Given the description of an element on the screen output the (x, y) to click on. 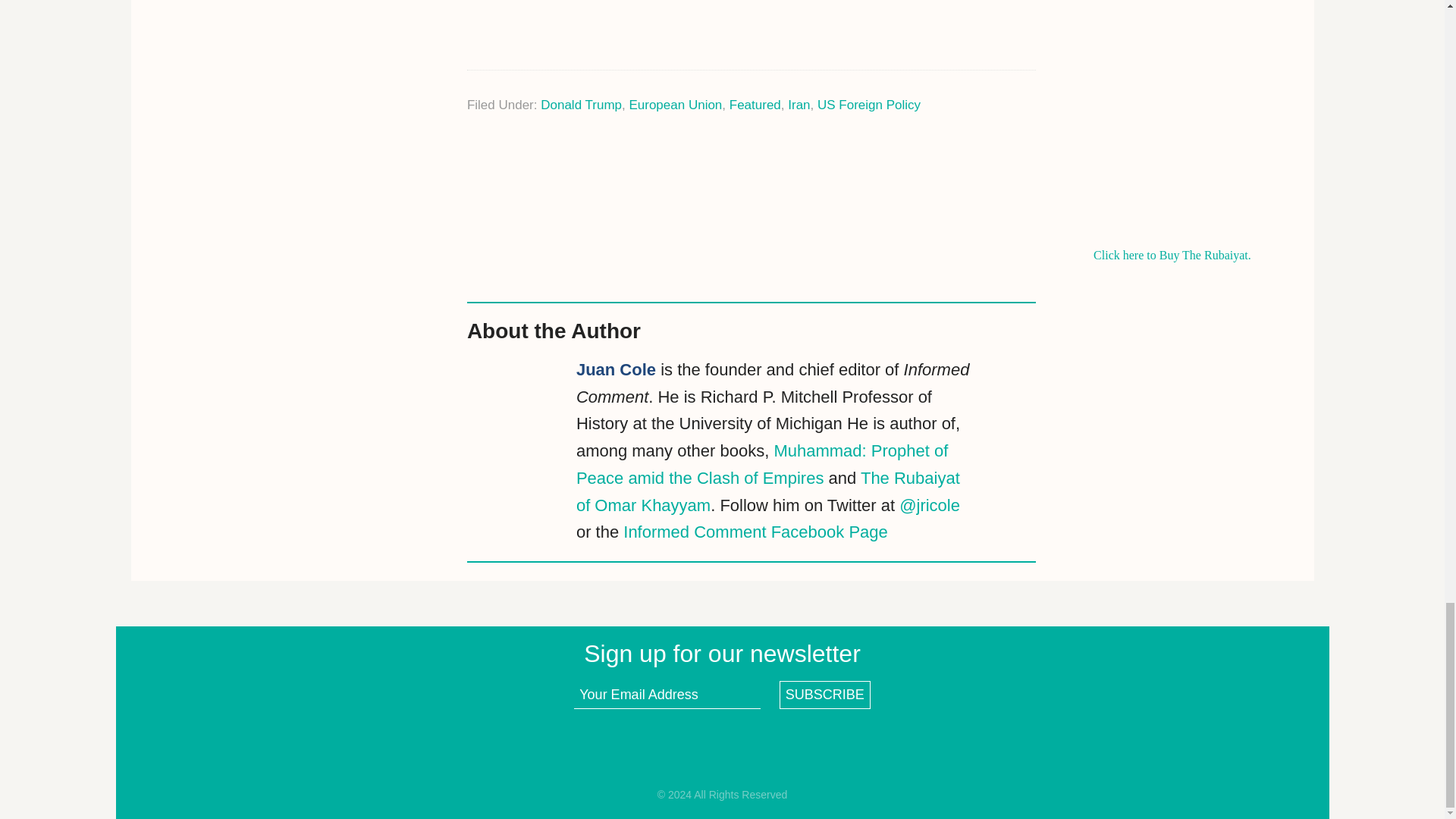
US Foreign Policy (868, 104)
European Union (675, 104)
Iran (798, 104)
Juan Cole (616, 369)
Donald Trump (580, 104)
subscribe (824, 694)
Featured (754, 104)
